Given the description of an element on the screen output the (x, y) to click on. 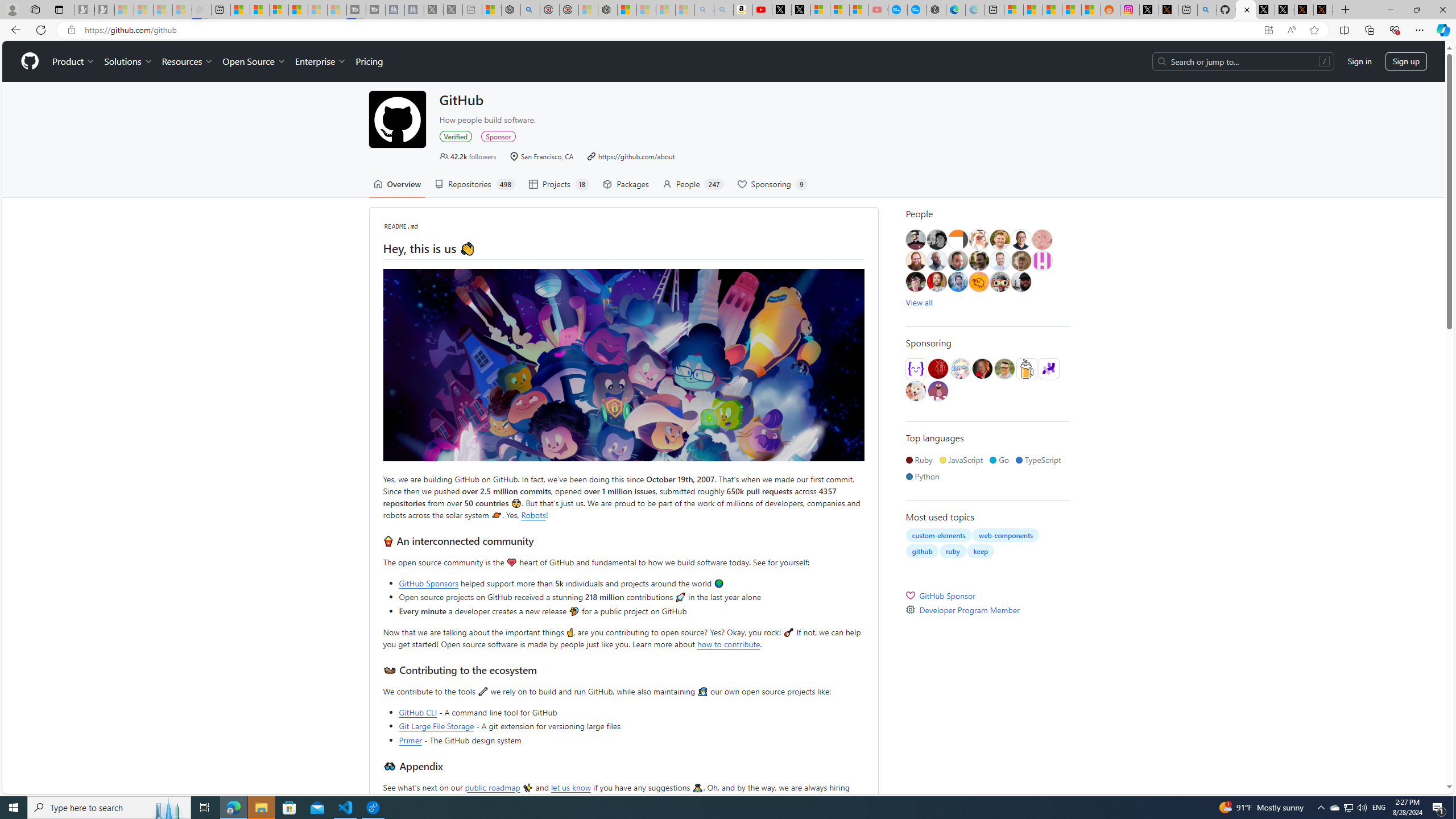
@arthurschreiber (978, 239)
Shanghai, China hourly forecast | Microsoft Weather (1052, 9)
@mtodd (915, 239)
@Homebrew (1026, 368)
Projects18 (559, 184)
@abraham (915, 260)
@matthewd (957, 239)
42.2k followers (467, 156)
@northrup (1020, 281)
@omgitsads (978, 260)
GitHub (@github) / X (1283, 9)
